Given the description of an element on the screen output the (x, y) to click on. 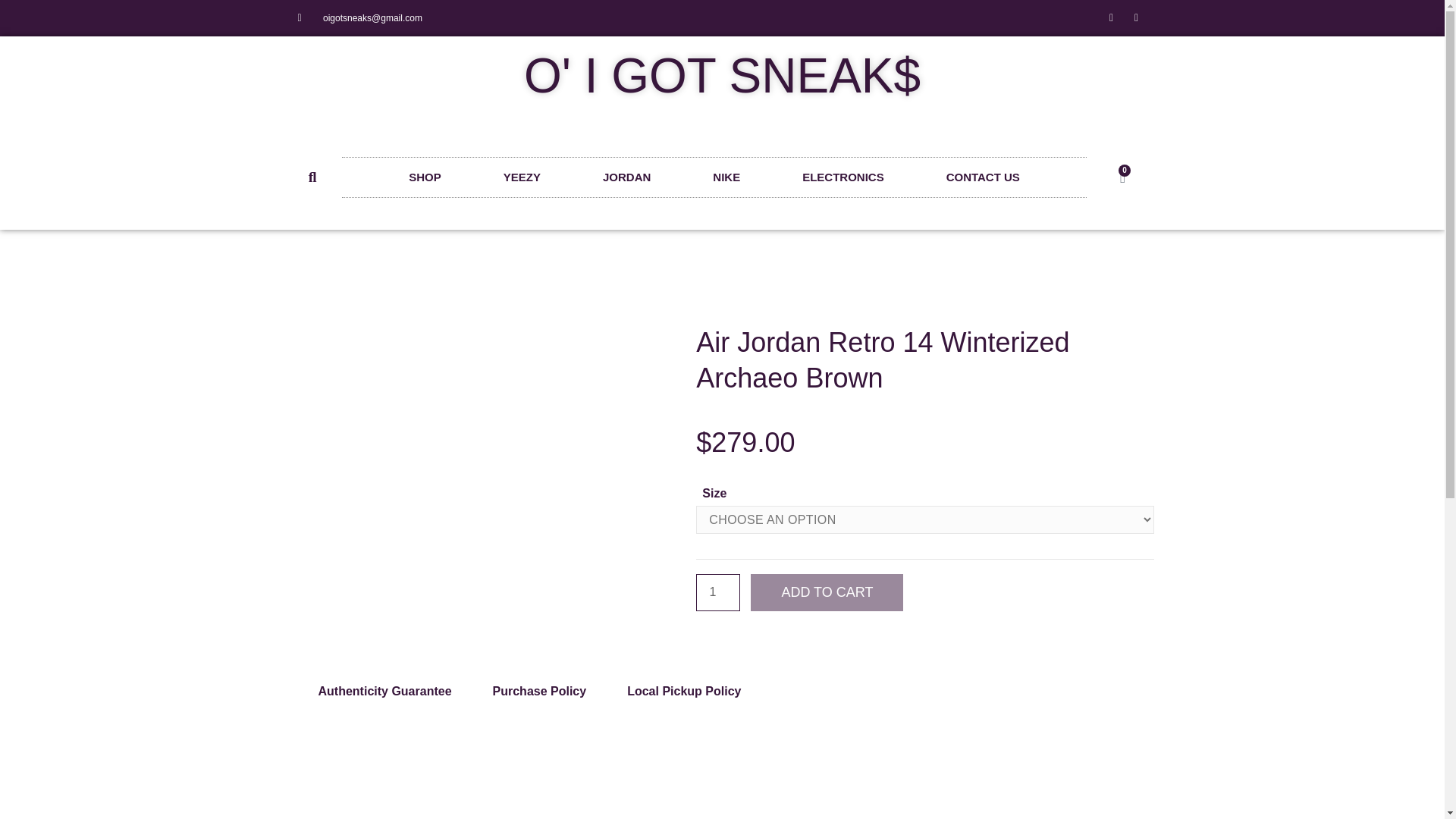
1 (717, 592)
NIKE (726, 177)
0 (1122, 177)
YEEZY (521, 177)
SHOP (424, 177)
ADD TO CART (829, 592)
CONTACT US (983, 177)
JORDAN (626, 177)
Qty (717, 592)
ELECTRONICS (843, 177)
